Given the description of an element on the screen output the (x, y) to click on. 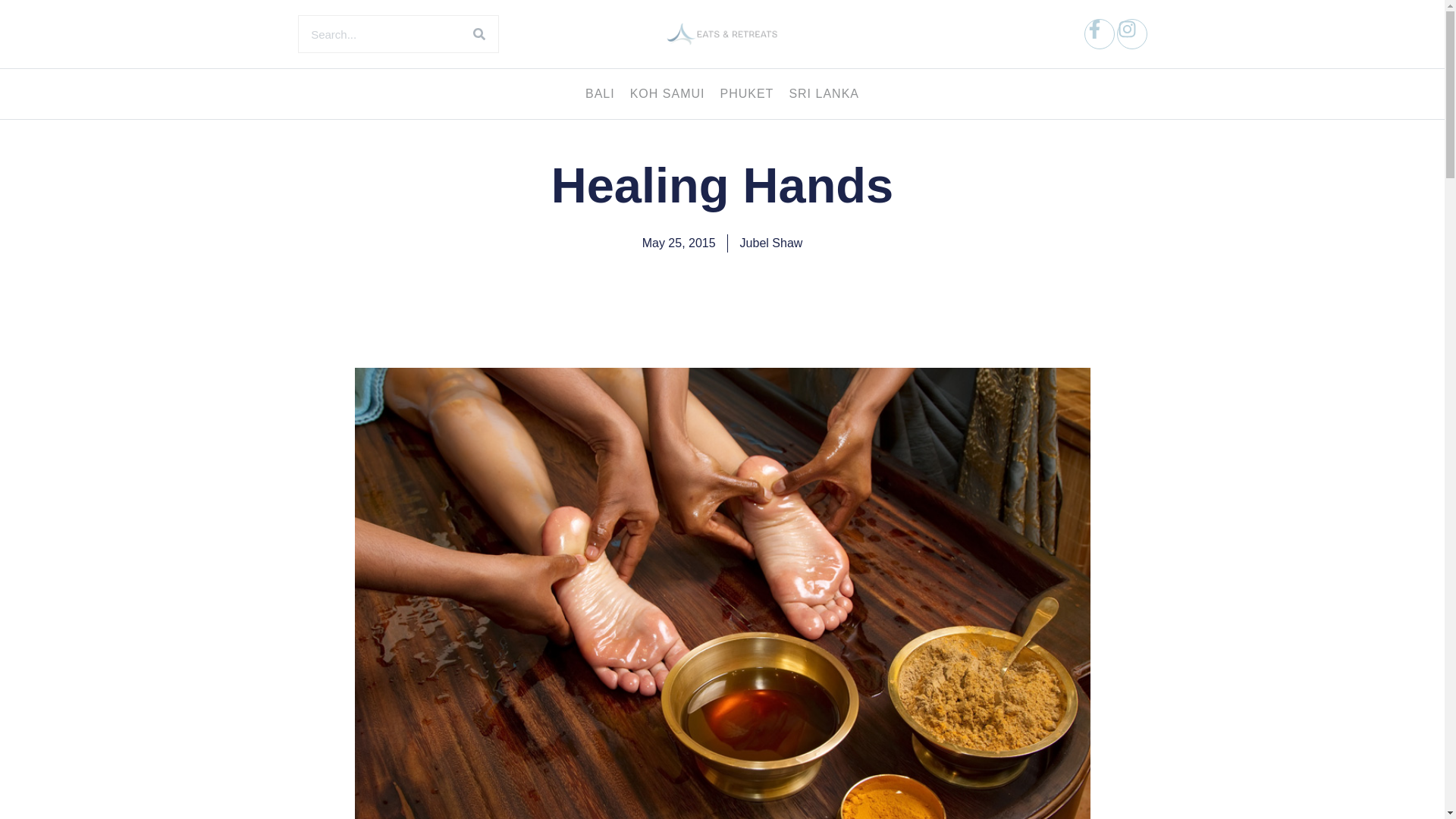
May 25, 2015 (679, 243)
SRI LANKA (823, 93)
KOH SAMUI (668, 93)
PHUKET (745, 93)
Jubel Shaw (771, 243)
BALI (600, 93)
